Given the description of an element on the screen output the (x, y) to click on. 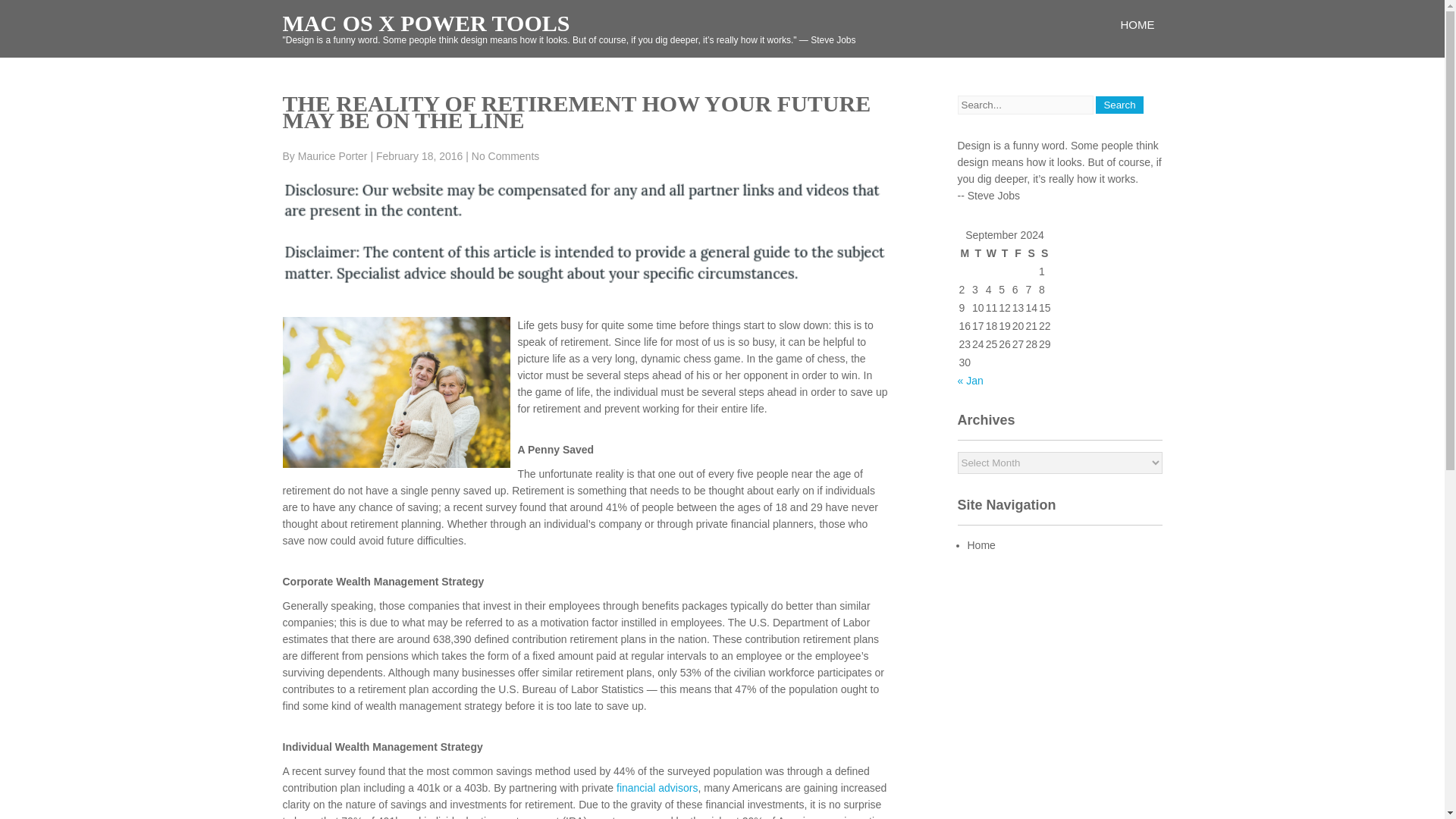
MAC OS X POWER TOOLS (425, 23)
No Comments (504, 155)
Search (1119, 104)
Search (1119, 104)
financial advisors (656, 787)
Search (1119, 104)
Home (981, 544)
HOME (1137, 24)
Financial planner, Financial planner (656, 787)
